Given the description of an element on the screen output the (x, y) to click on. 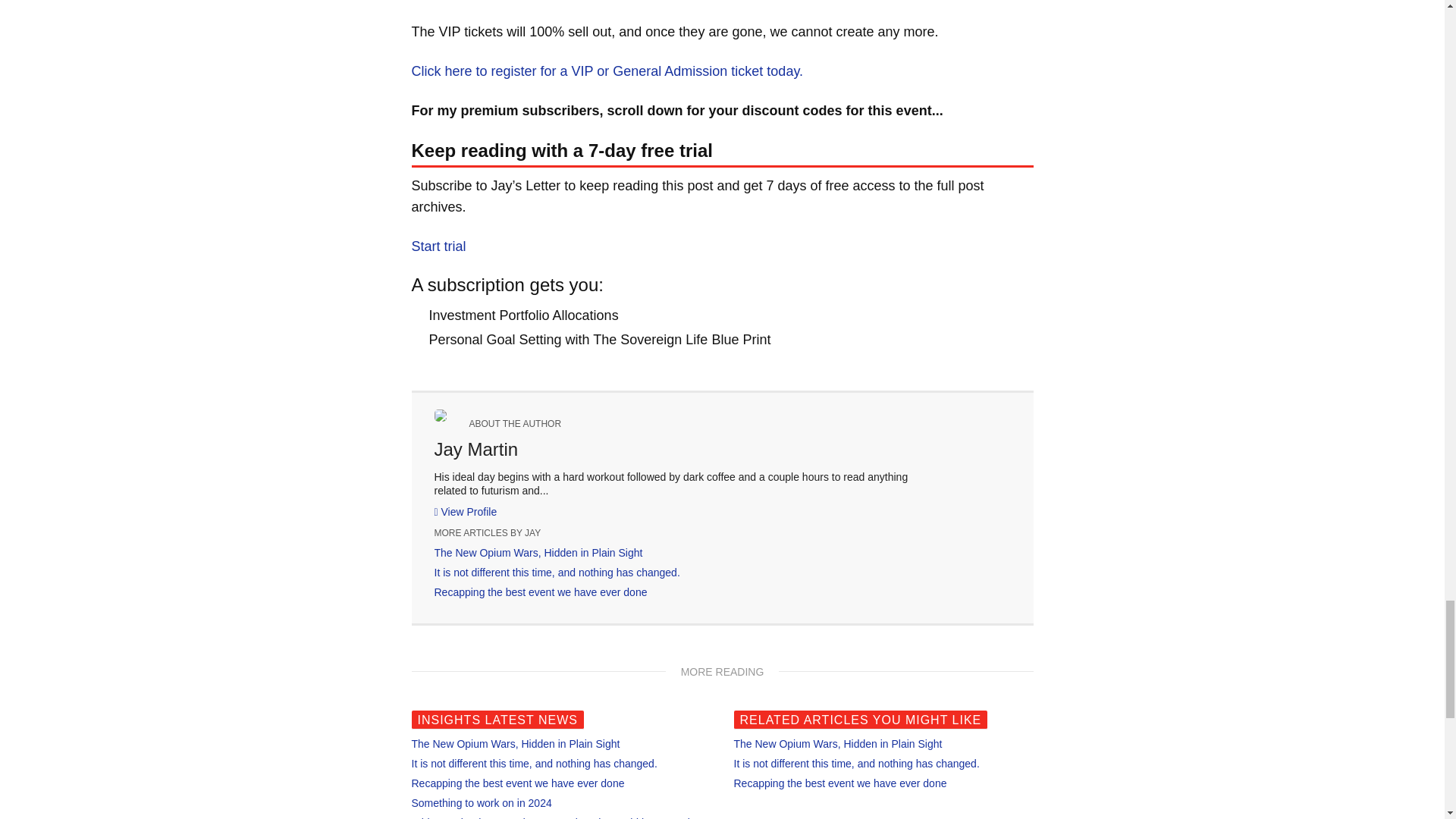
It is not different this time, and nothing has changed. (533, 763)
View Profile (464, 511)
It is not different this time, and nothing has changed. (556, 572)
Something to work on in 2024 (480, 802)
Recapping the best event we have ever done (840, 783)
It is not different this time, and nothing has changed. (856, 763)
The New Opium Wars, Hidden in Plain Sight (537, 552)
The New Opium Wars, Hidden in Plain Sight (515, 743)
Recapping the best event we have ever done (517, 783)
